Given the description of an element on the screen output the (x, y) to click on. 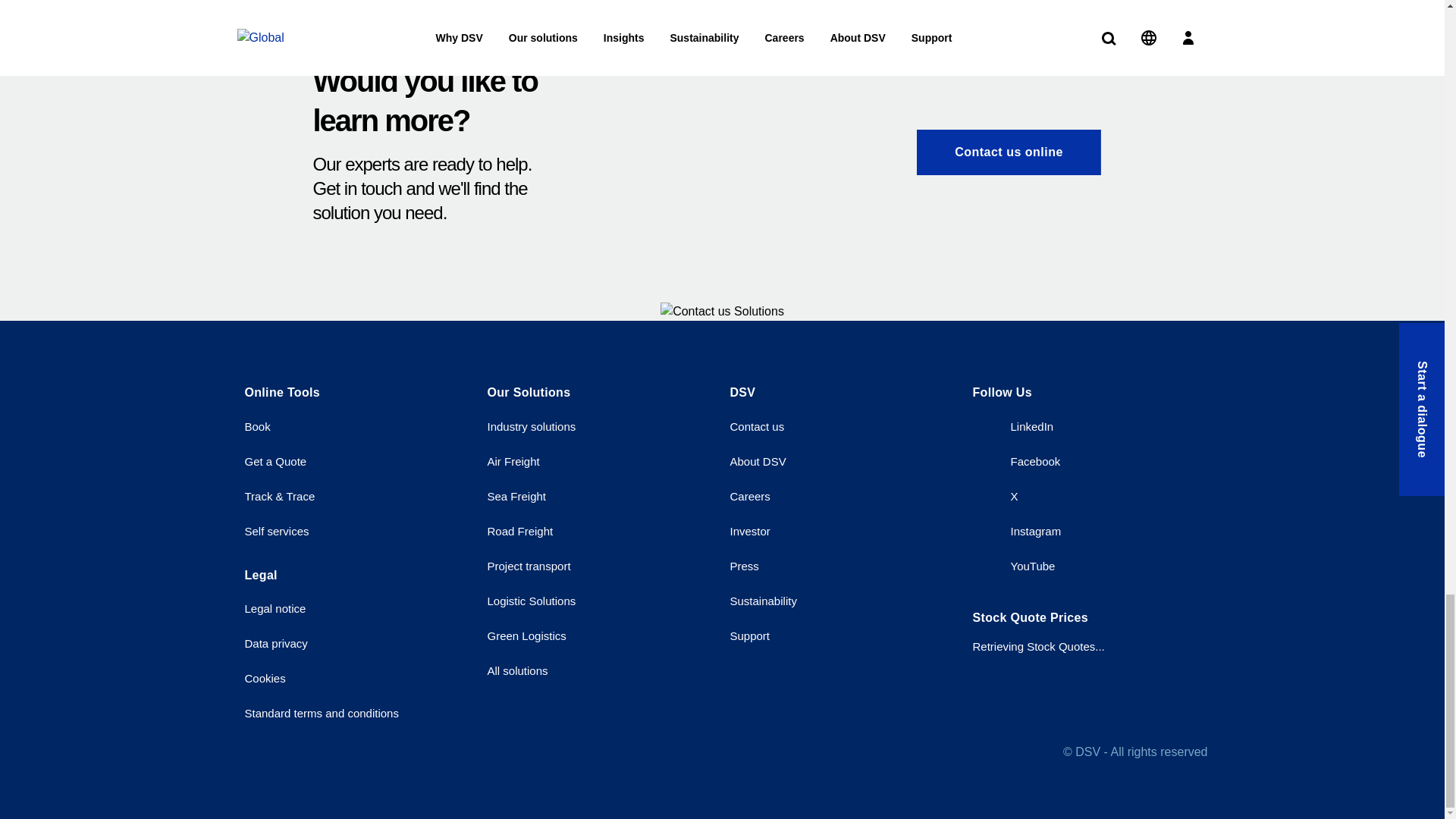
Instagram (1016, 530)
LinkedIn (1012, 426)
Youtube (1013, 565)
X (994, 495)
Facebook (1015, 461)
